Given the description of an element on the screen output the (x, y) to click on. 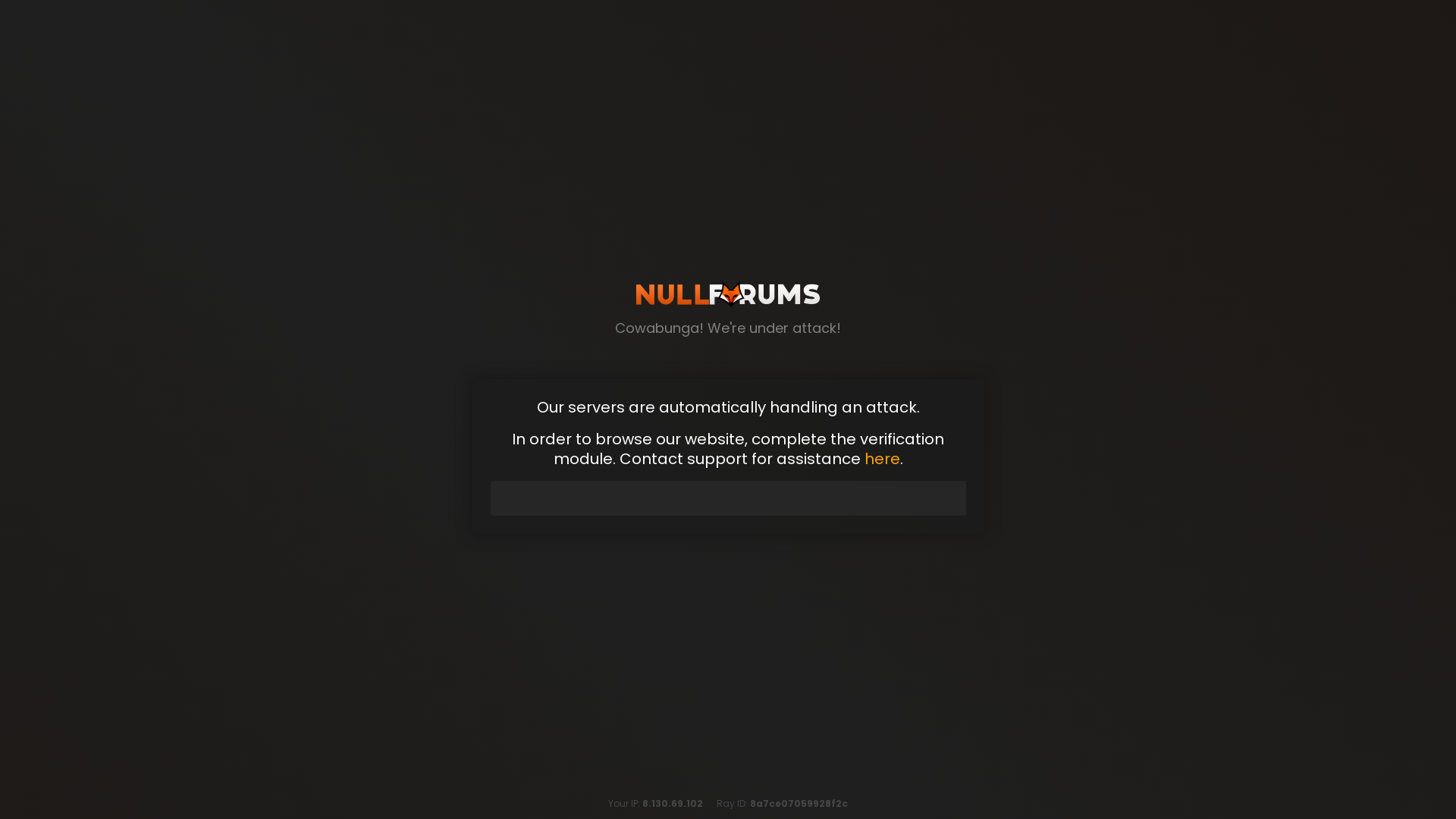
here (881, 458)
